Given the description of an element on the screen output the (x, y) to click on. 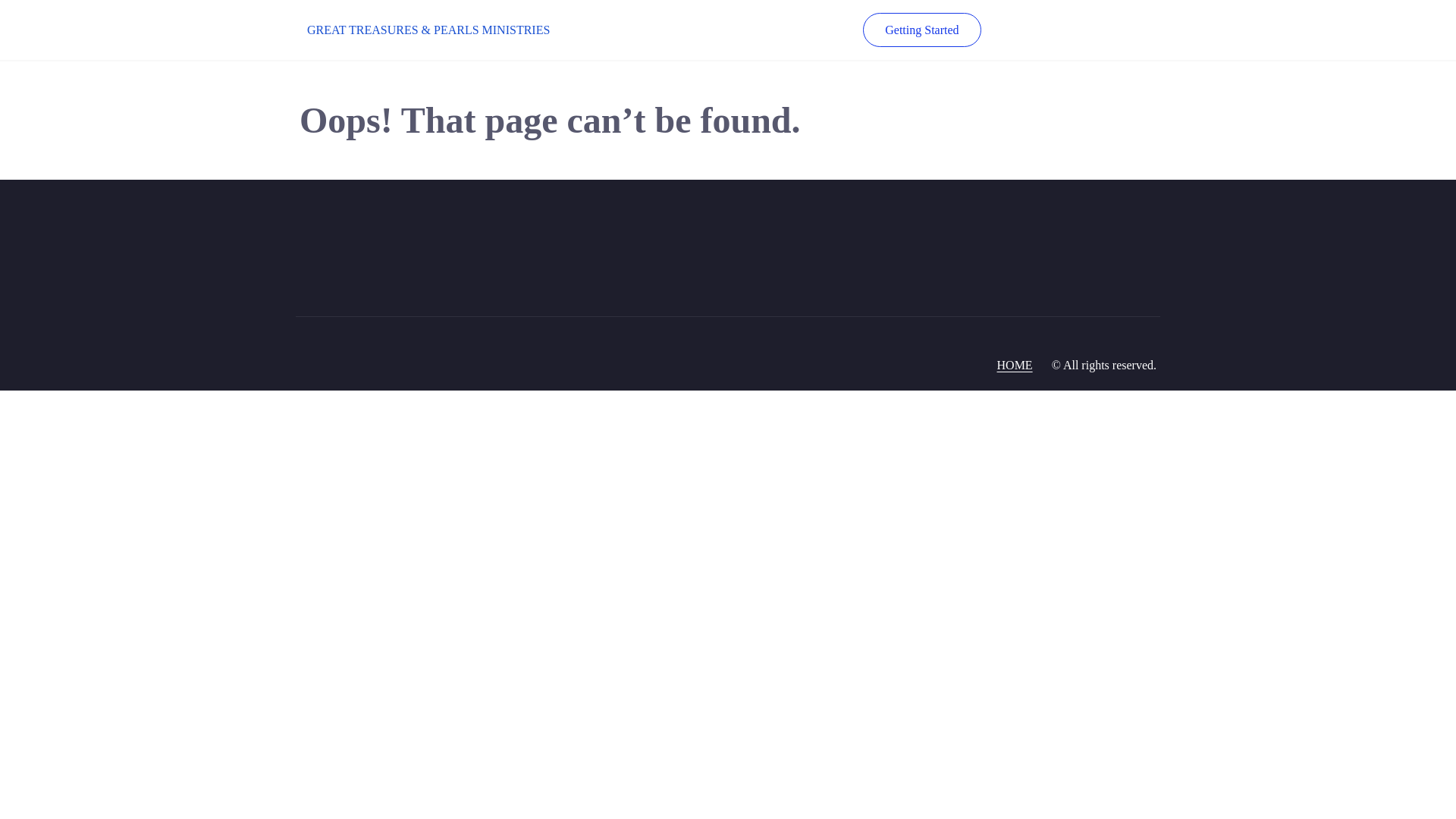
Getting Started (921, 29)
HOME (1014, 364)
